Given the description of an element on the screen output the (x, y) to click on. 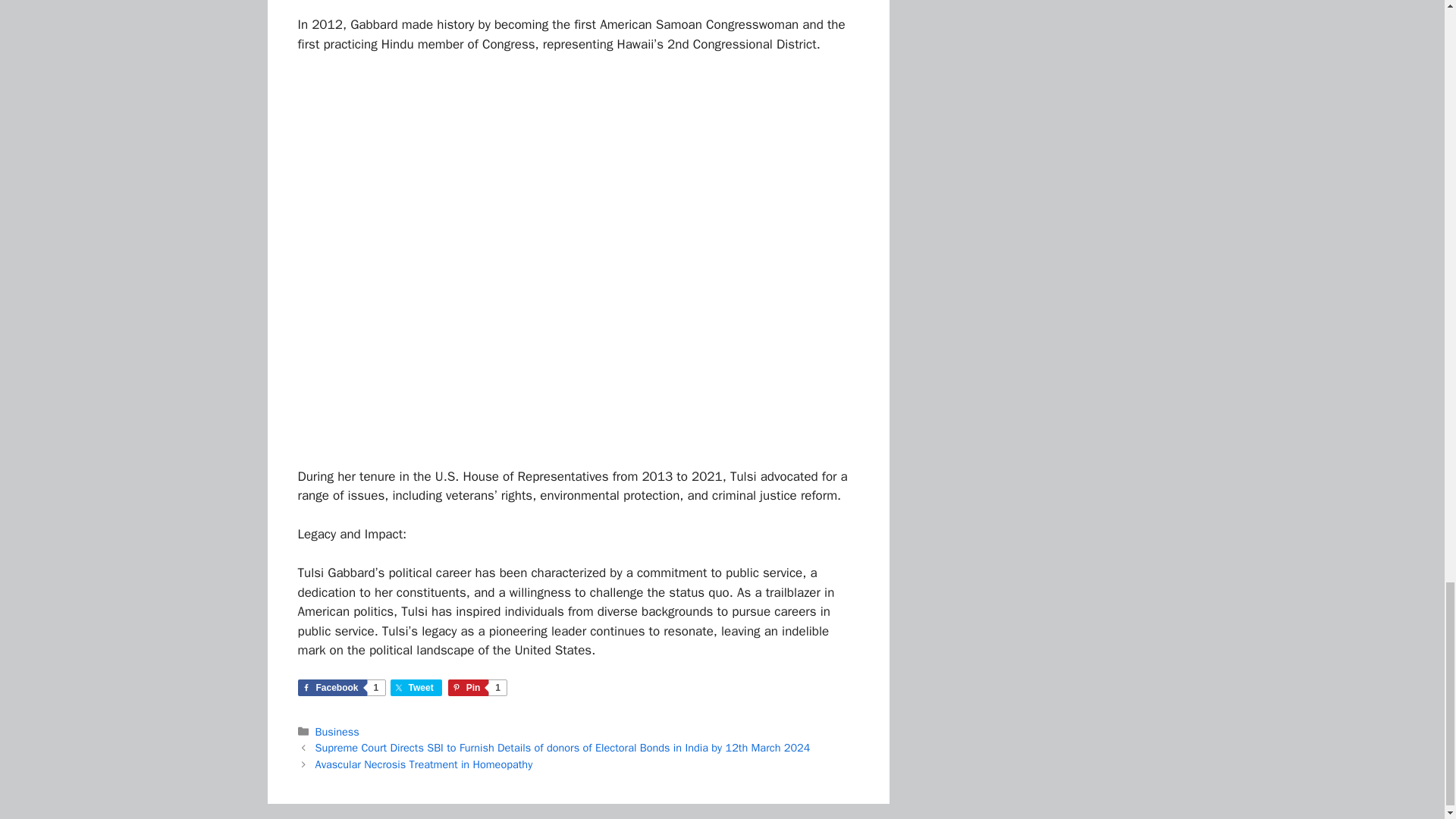
Share on Facebook (340, 687)
Share on Twitter (477, 687)
Avascular Necrosis Treatment in Homeopathy (416, 687)
Tweet (423, 764)
Business (416, 687)
Share on Pinterest (337, 731)
